Given the description of an element on the screen output the (x, y) to click on. 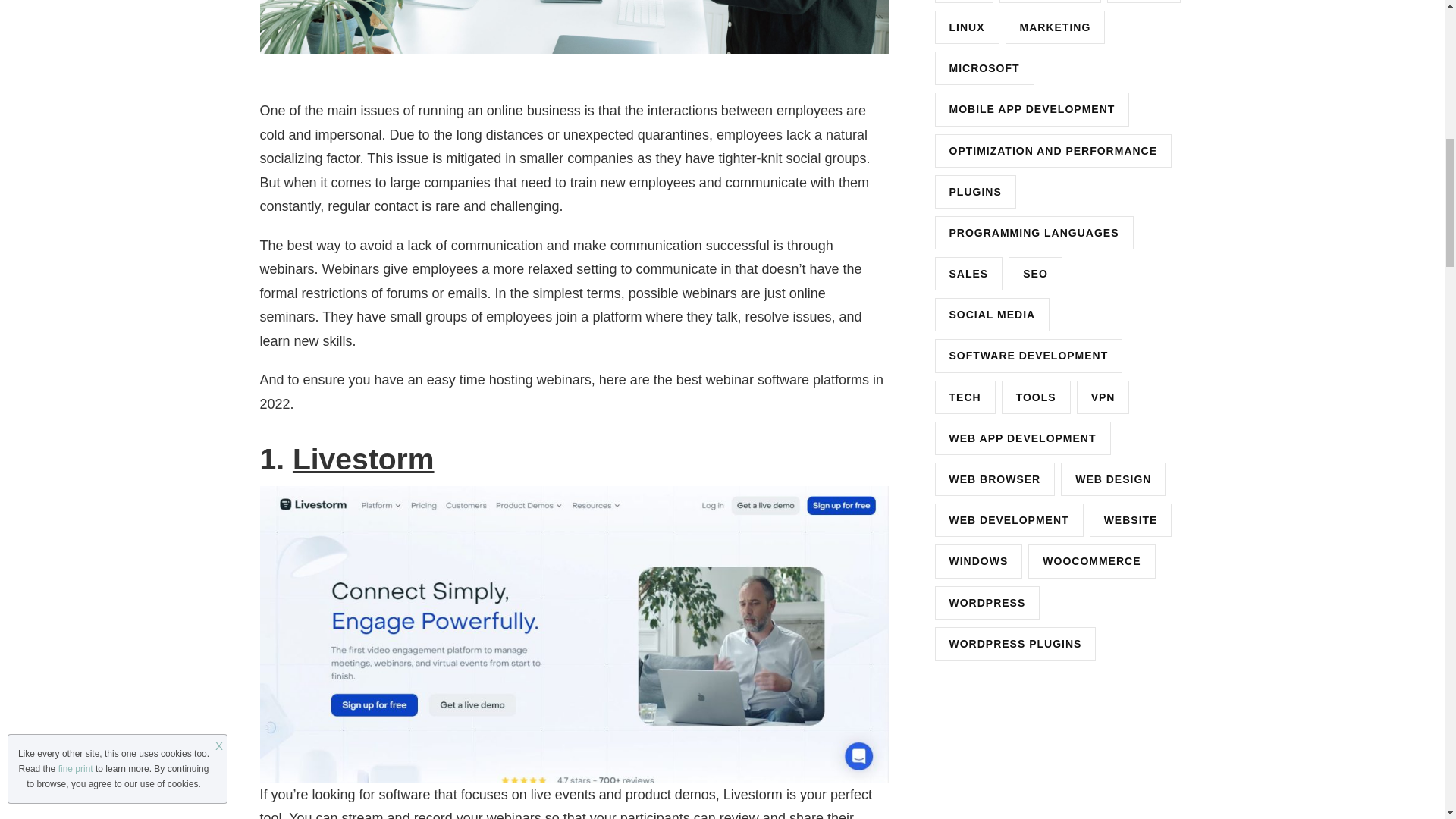
Livestorm (362, 459)
